Given the description of an element on the screen output the (x, y) to click on. 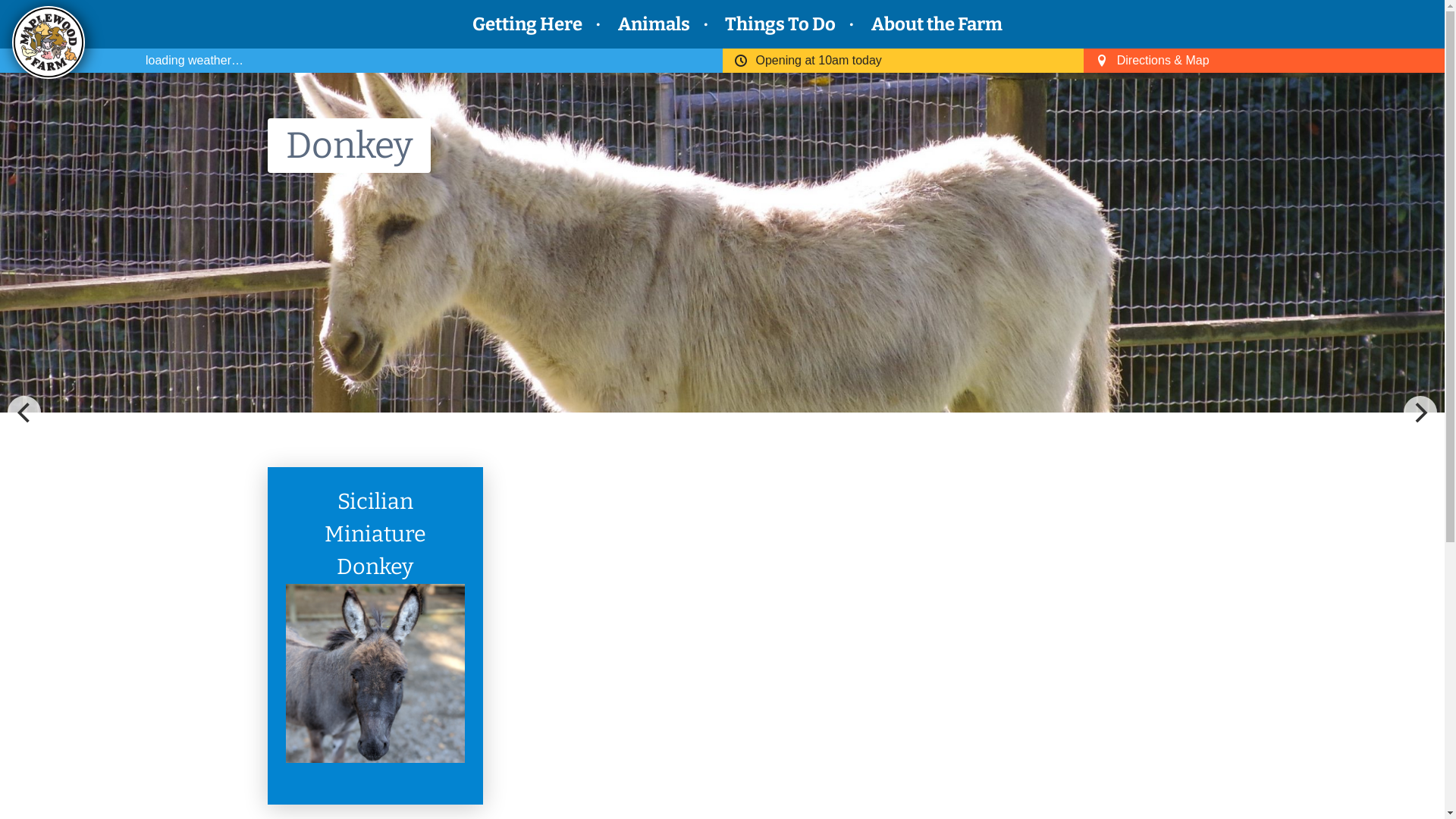
Getting Here Element type: text (527, 24)
About the Farm Element type: text (69, 127)
About the Farm Element type: text (936, 24)
Directions & Map Element type: text (1163, 59)
Things To Do Element type: text (59, 90)
Things To Do Element type: text (780, 24)
Animals Element type: text (42, 53)
Animals Element type: text (653, 24)
Opening at 10am today Element type: text (818, 59)
Sicilian Miniature Donkey Element type: text (375, 534)
Getting Here Element type: text (59, 17)
